Given the description of an element on the screen output the (x, y) to click on. 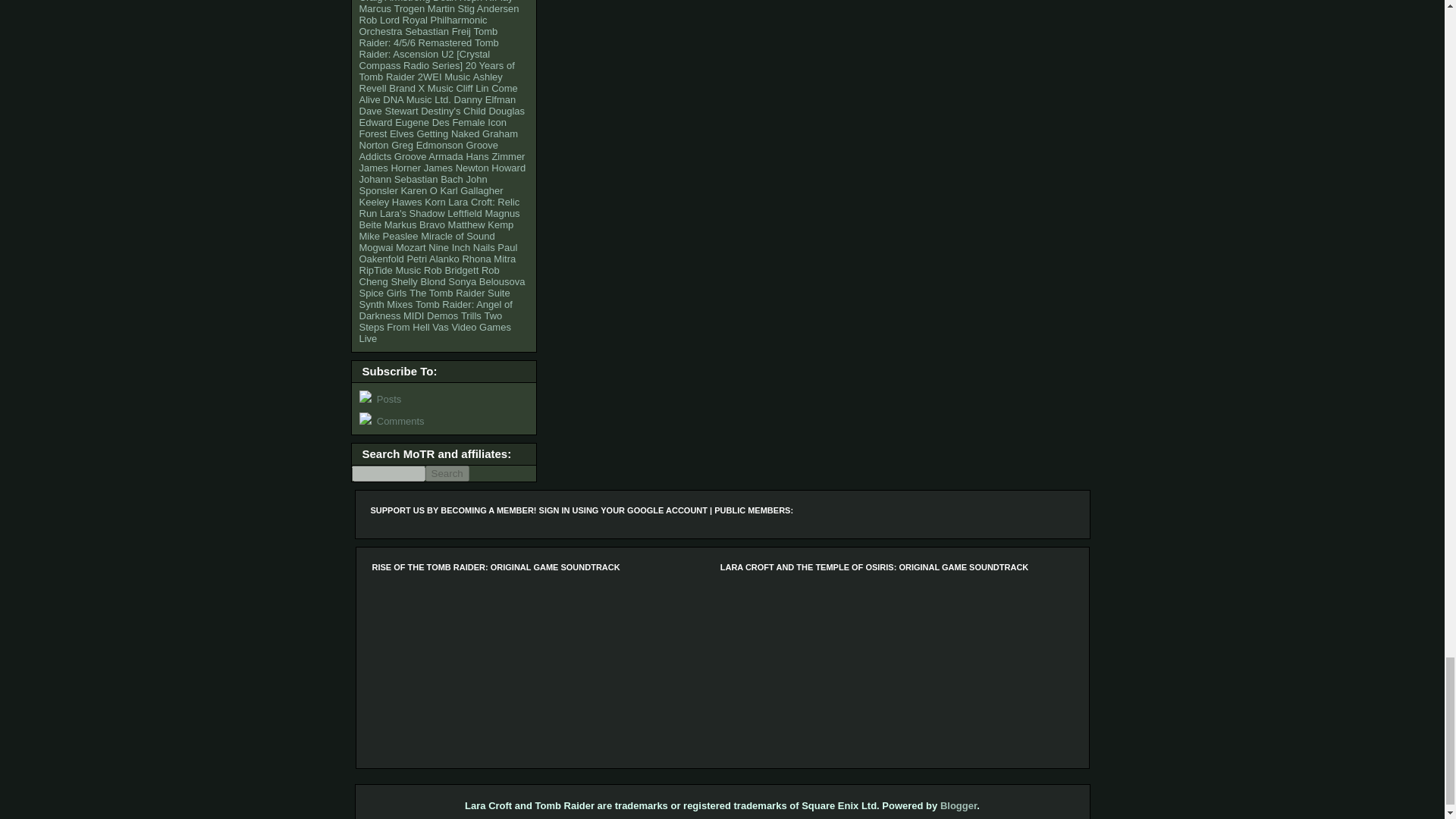
Search (446, 473)
Search (446, 473)
search (388, 473)
search (446, 473)
